Given the description of an element on the screen output the (x, y) to click on. 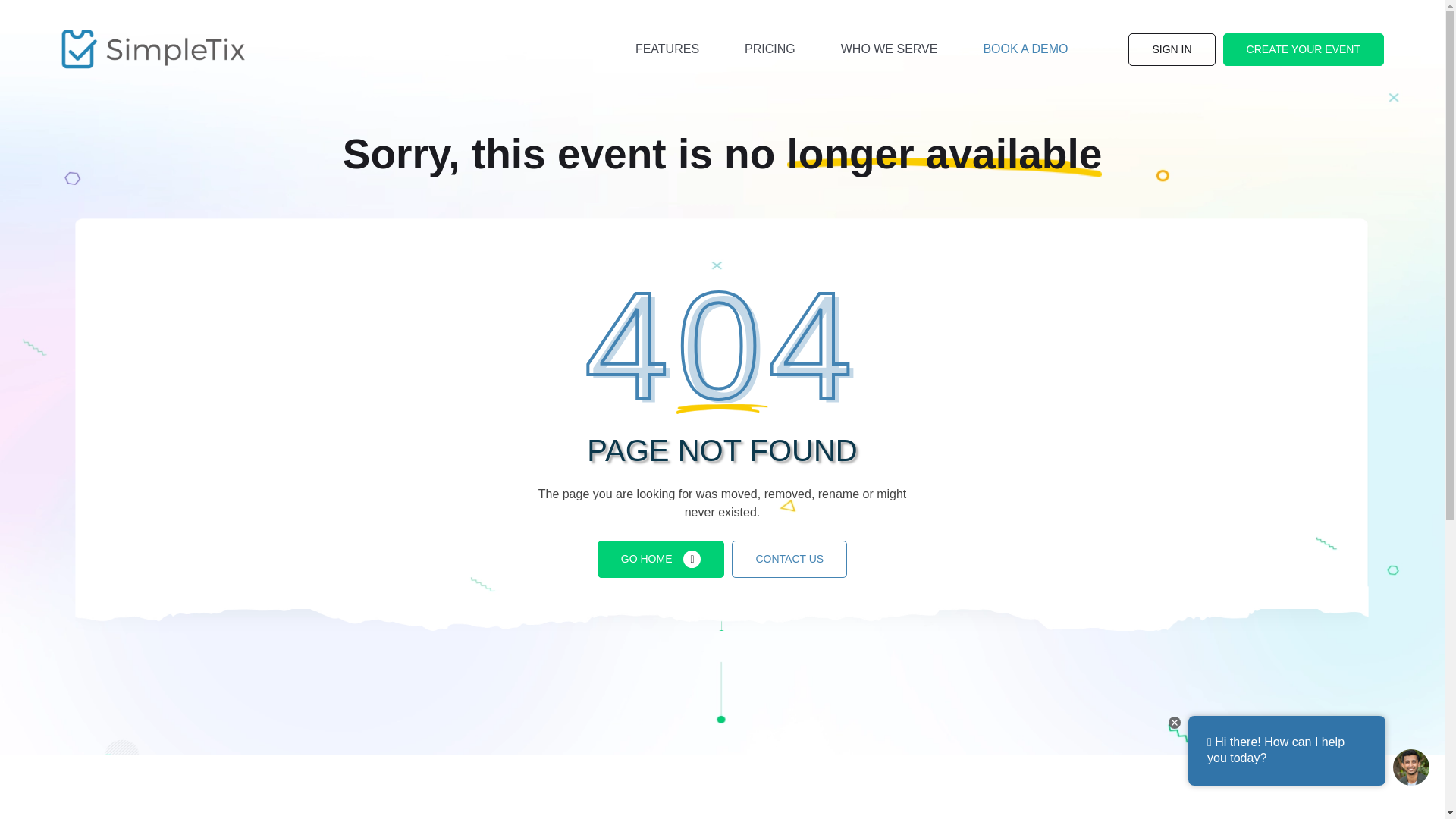
CREATE YOUR EVENT (1303, 49)
BOOK A DEMO (1024, 49)
FEATURES (667, 49)
SIGN IN (1171, 49)
CONTACT US (789, 559)
GO HOME (660, 559)
WHO WE SERVE (889, 49)
PRICING (770, 49)
